Given the description of an element on the screen output the (x, y) to click on. 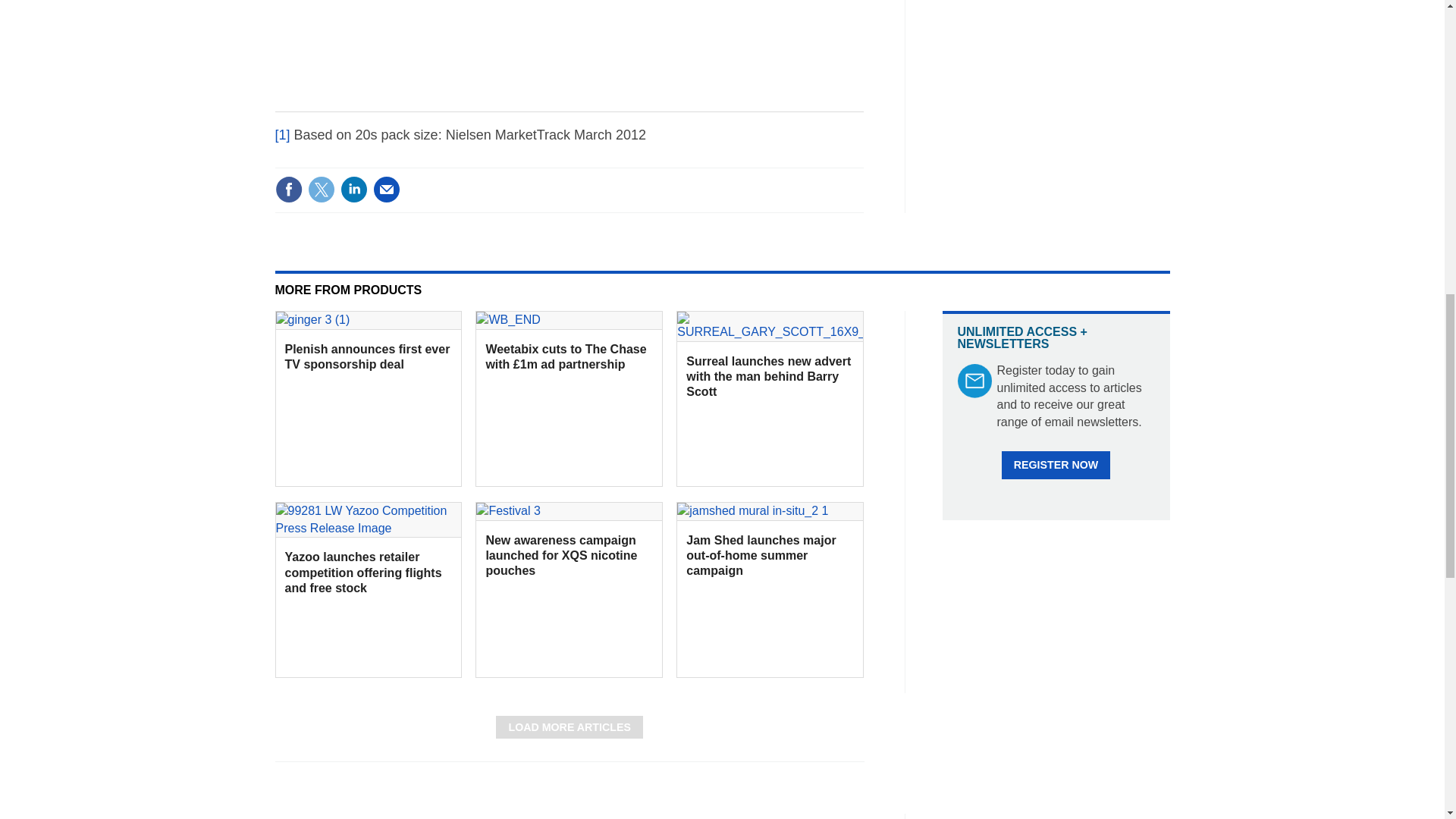
Email this article (386, 189)
Share this on Twitter (320, 189)
Share this on Facebook (288, 189)
Share this on Linked in (352, 189)
